Given the description of an element on the screen output the (x, y) to click on. 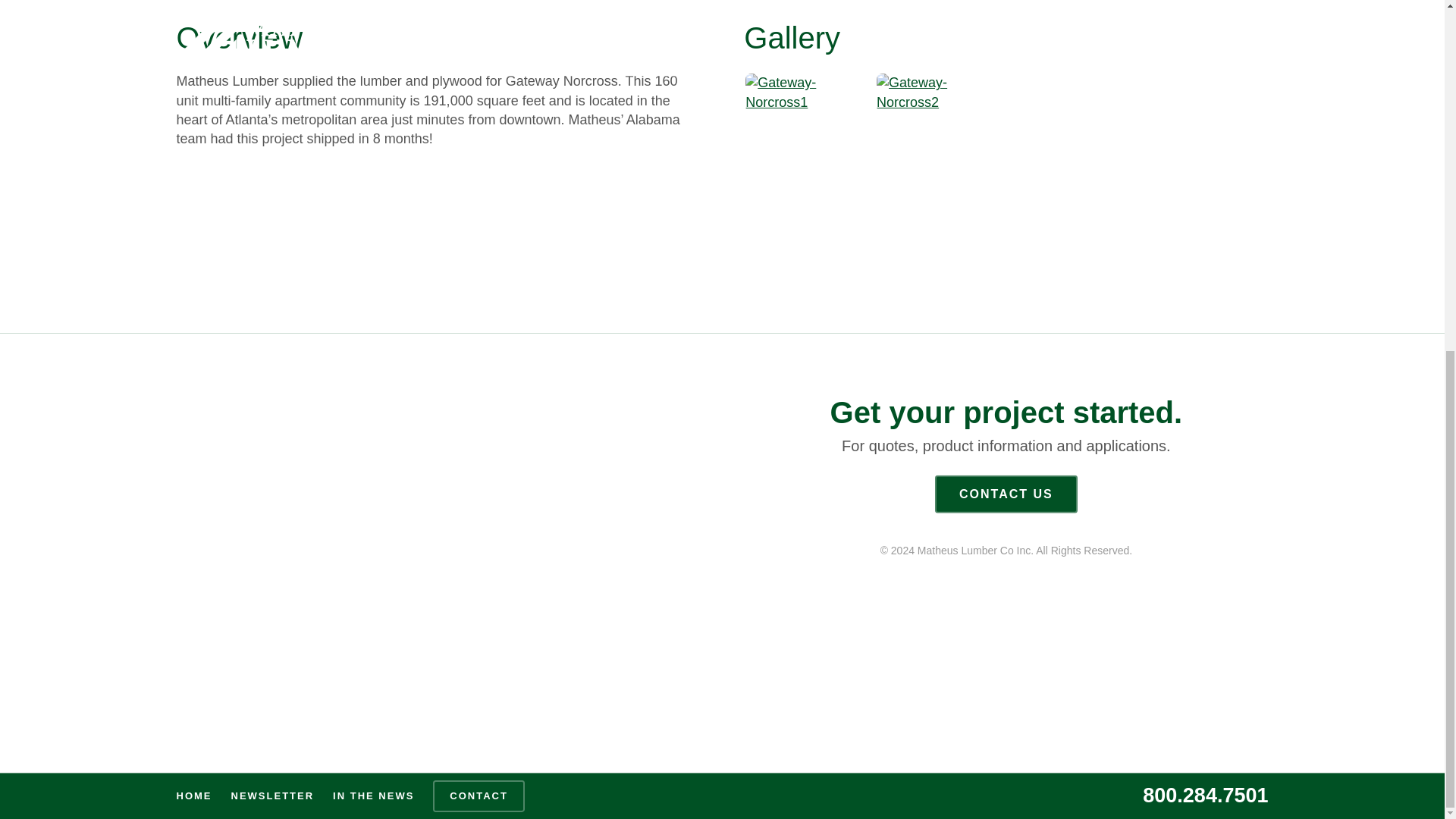
IN THE NEWS (373, 185)
NEWSLETTER (272, 185)
HOME (193, 185)
800.284.7501 (1205, 184)
CONTACT (478, 185)
CONTACT US (1005, 494)
